Given the description of an element on the screen output the (x, y) to click on. 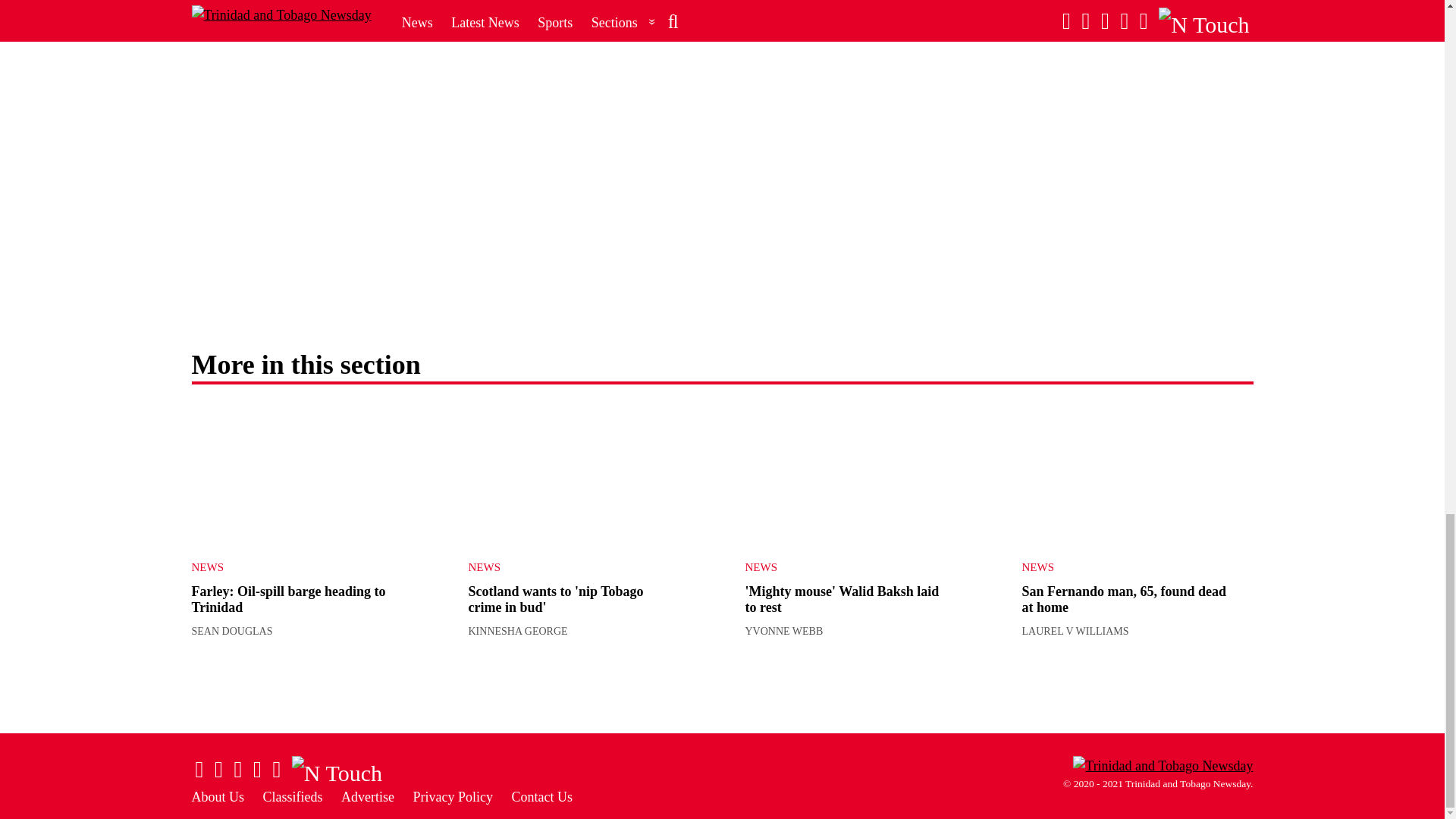
San Fernando man, 65, found dead at home (1137, 475)
Farley: Oil-spill barge heading to Trinidad (306, 475)
'Mighty mouse' Walid Baksh laid to rest (859, 475)
Scotland wants to 'nip Tobago crime in bud' (584, 475)
NEWS (294, 567)
